Given the description of an element on the screen output the (x, y) to click on. 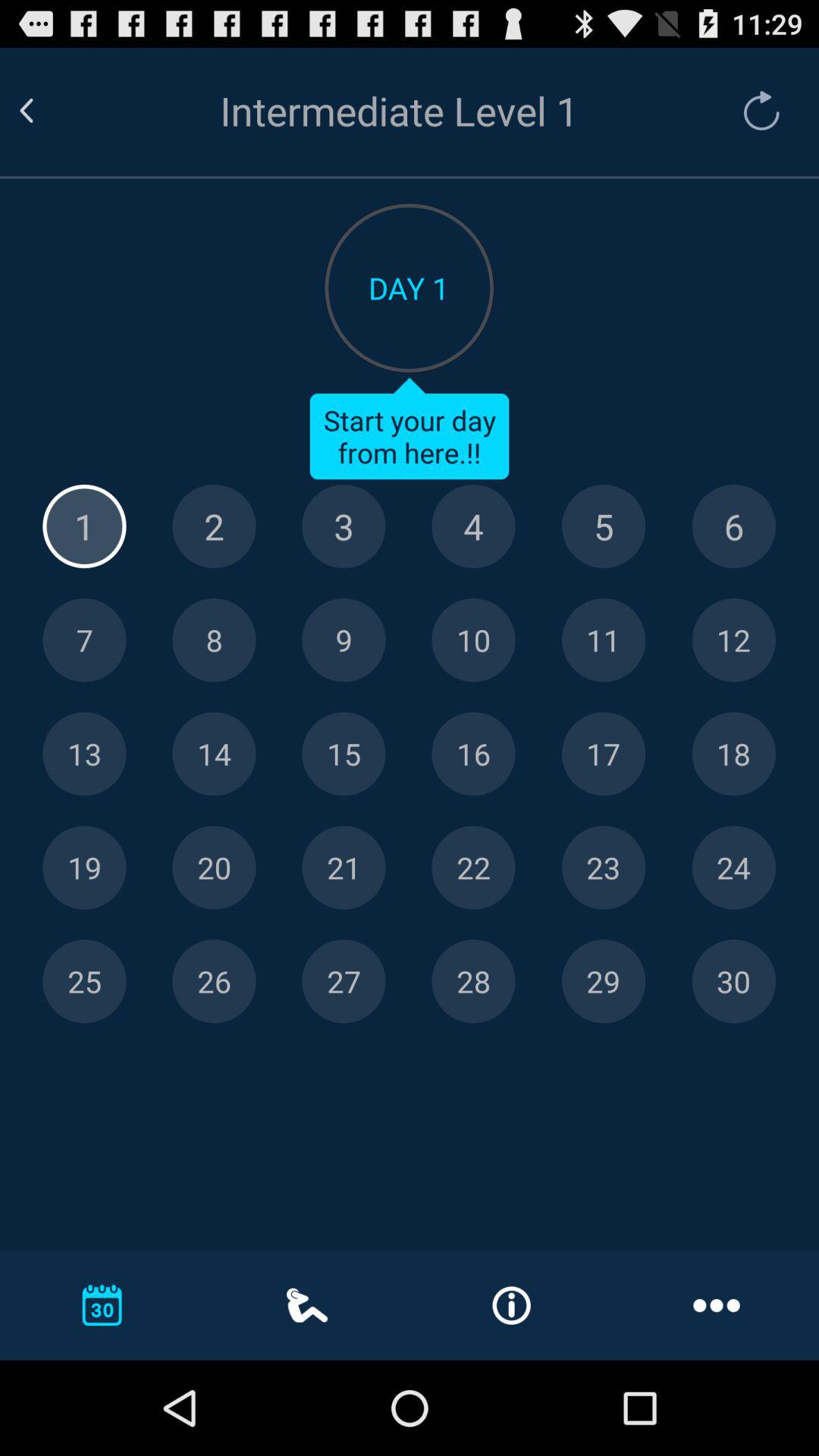
edit date data (84, 867)
